Given the description of an element on the screen output the (x, y) to click on. 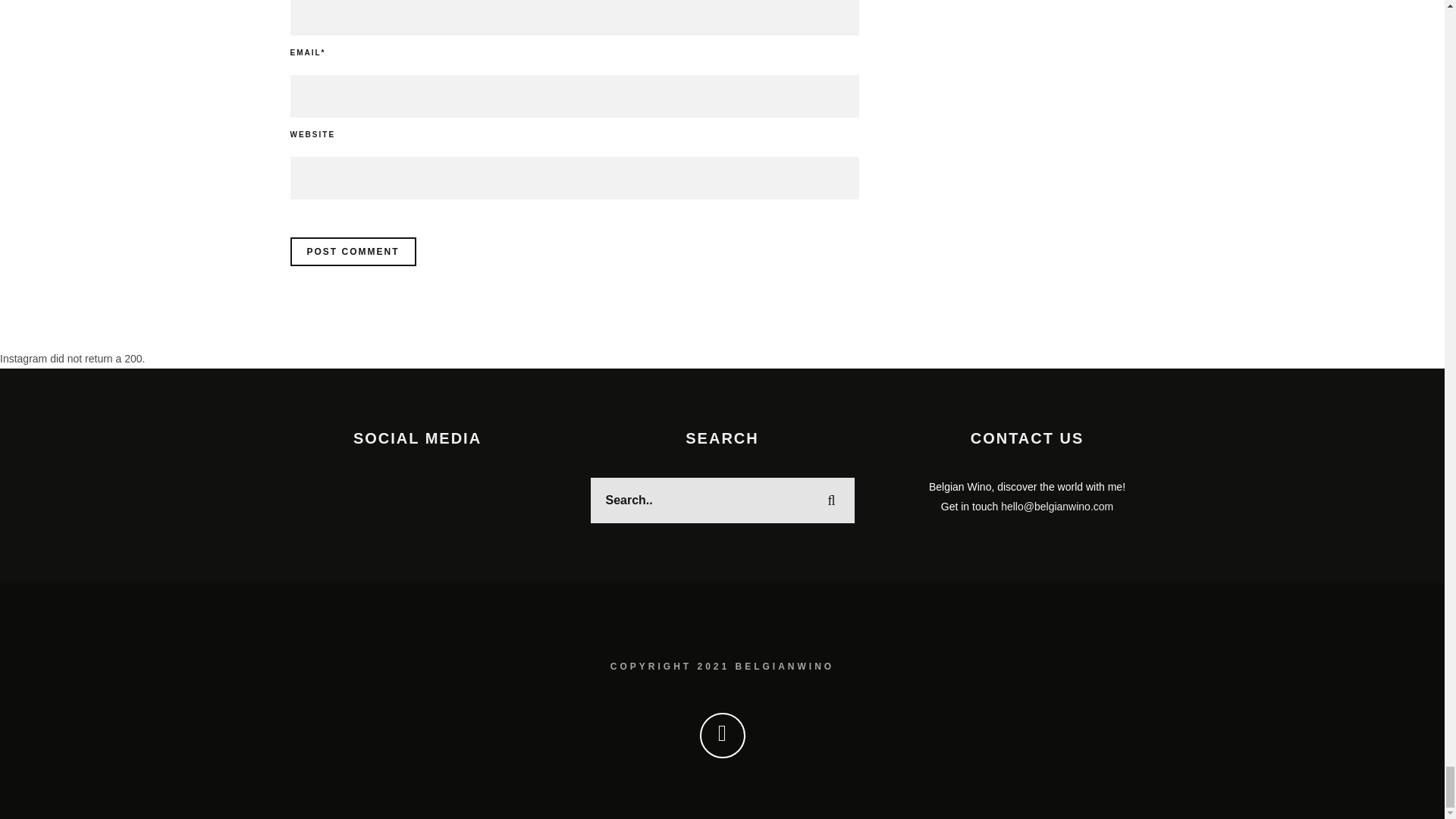
Post Comment (351, 251)
